Given the description of an element on the screen output the (x, y) to click on. 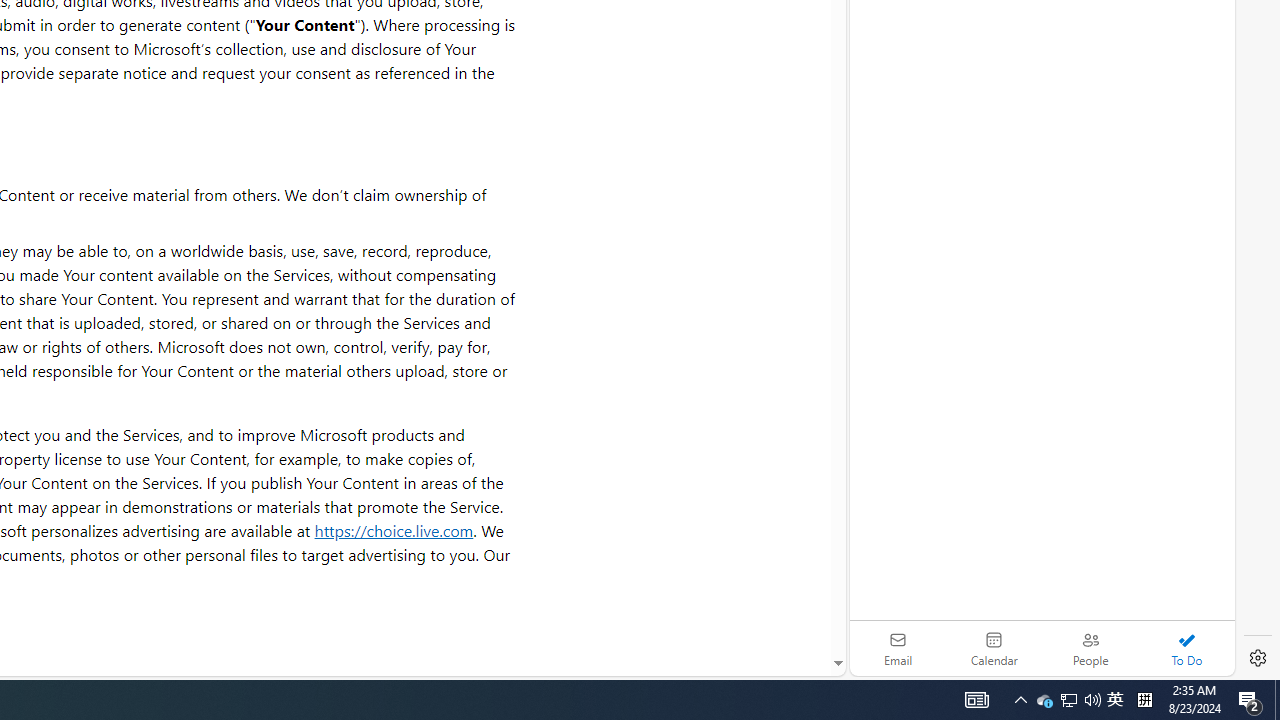
https://choice.live.com (393, 530)
People (1090, 648)
Calendar. Date today is 22 (994, 648)
To Do (1186, 648)
Email (898, 648)
